Given the description of an element on the screen output the (x, y) to click on. 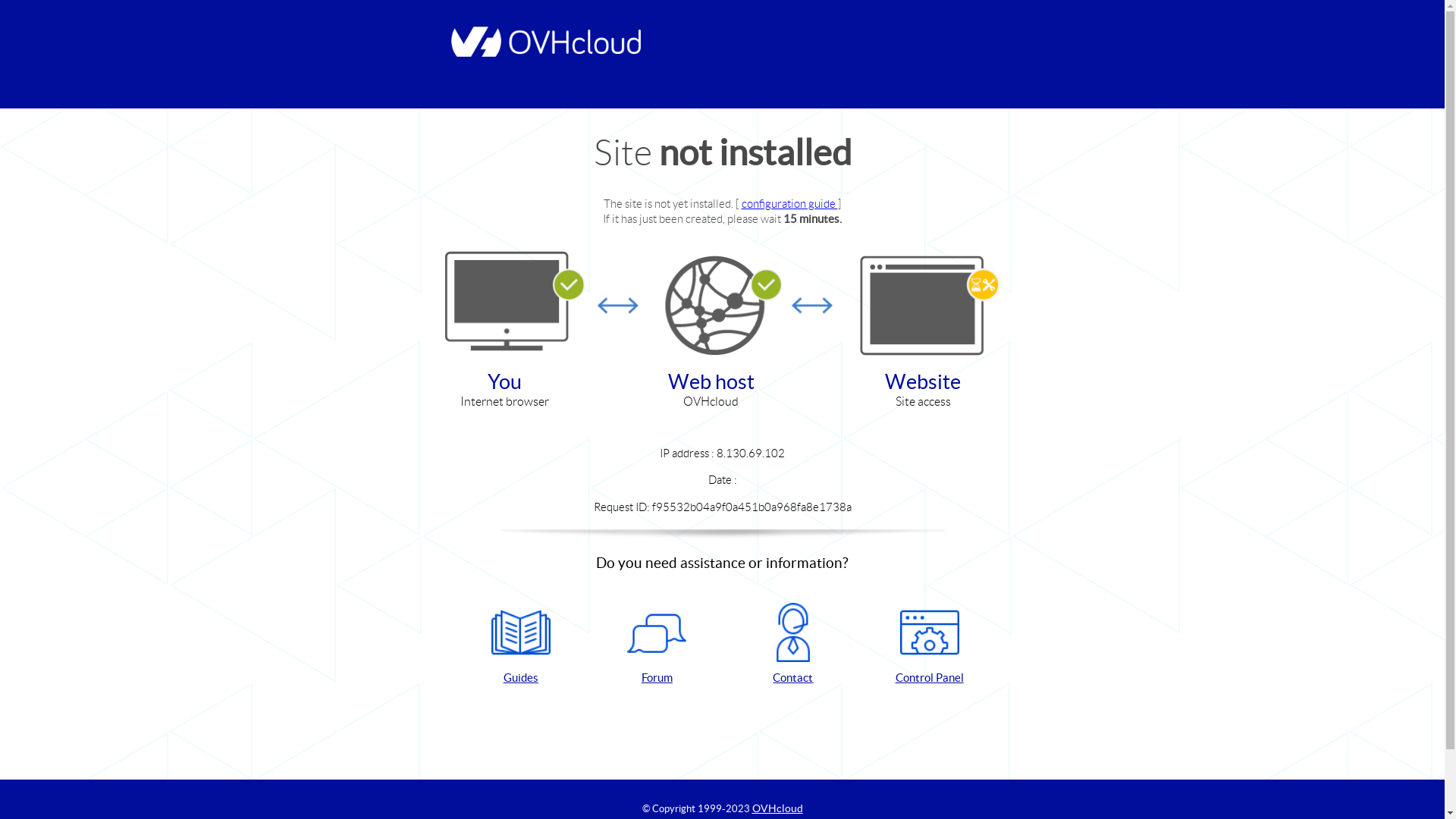
Forum Element type: text (656, 644)
Control Panel Element type: text (929, 644)
configuration guide Element type: text (789, 203)
Contact Element type: text (792, 644)
OVHcloud Element type: text (777, 808)
Guides Element type: text (520, 644)
